Given the description of an element on the screen output the (x, y) to click on. 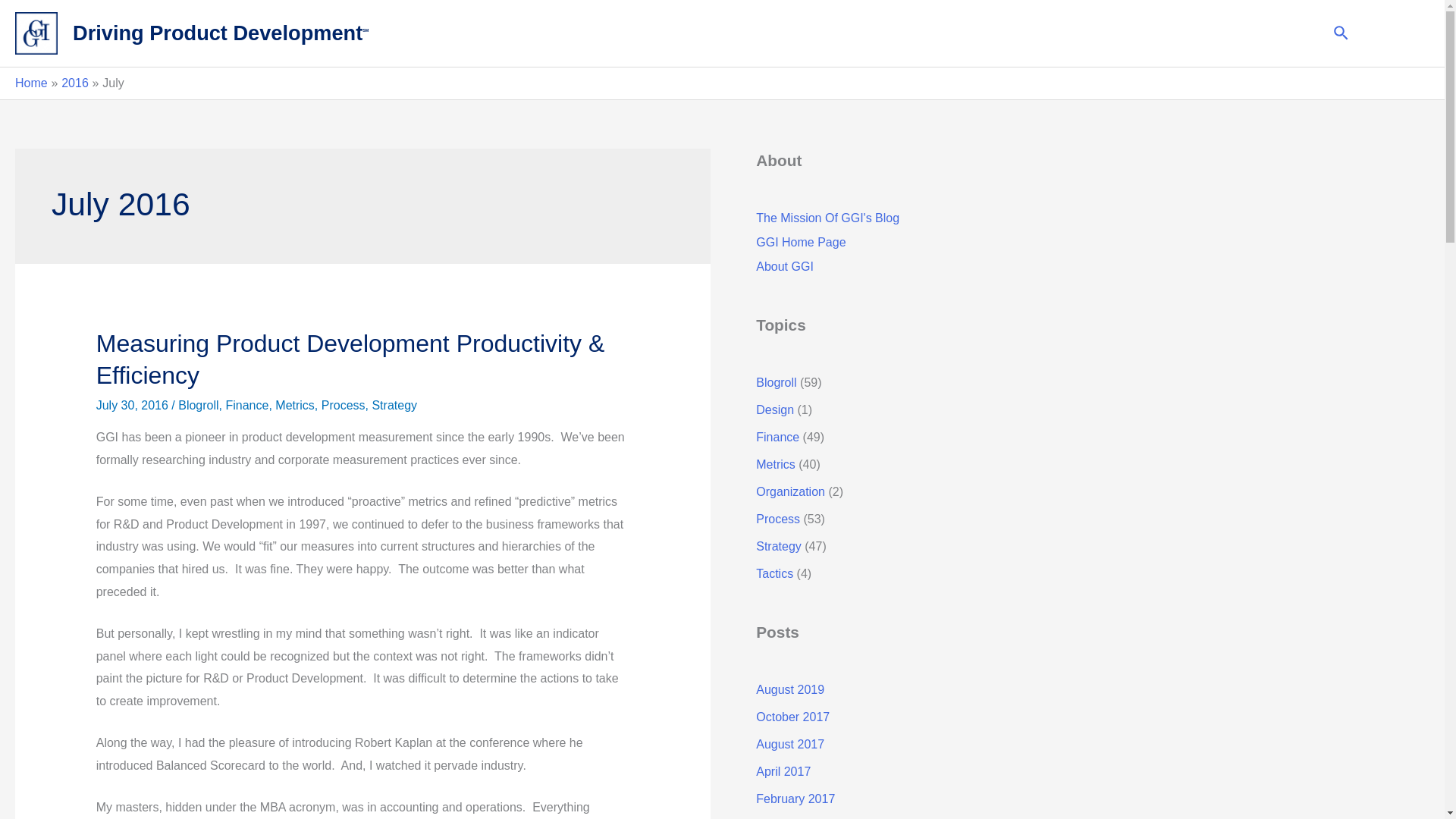
Process (777, 518)
April 2017 (782, 771)
Process (343, 404)
February 2017 (794, 798)
Blogroll (197, 404)
October 2017 (792, 716)
Organization (790, 491)
Home (31, 82)
The Mission Of GGI's Blog (827, 217)
Strategy (393, 404)
